Given the description of an element on the screen output the (x, y) to click on. 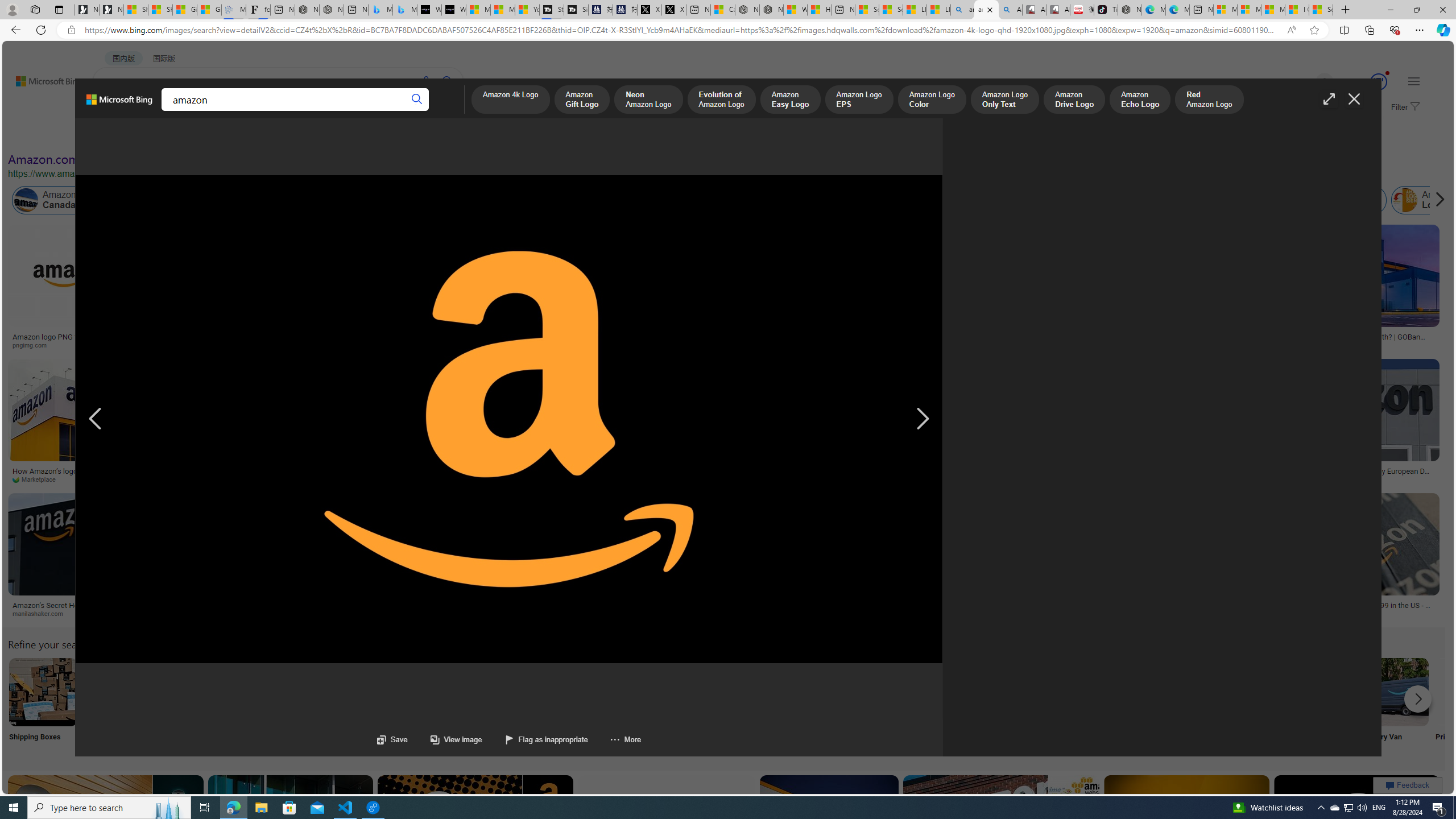
Amazon Mini TV Mini TV (794, 706)
MAPS (397, 111)
Amazon 4k Logo (510, 100)
agilitypr.com (651, 613)
vecteezy.com (577, 479)
Amazon App Store Download (1319, 691)
Amazon Shoes (1103, 199)
Flag as inappropriate (534, 739)
Save (392, 739)
